Given the description of an element on the screen output the (x, y) to click on. 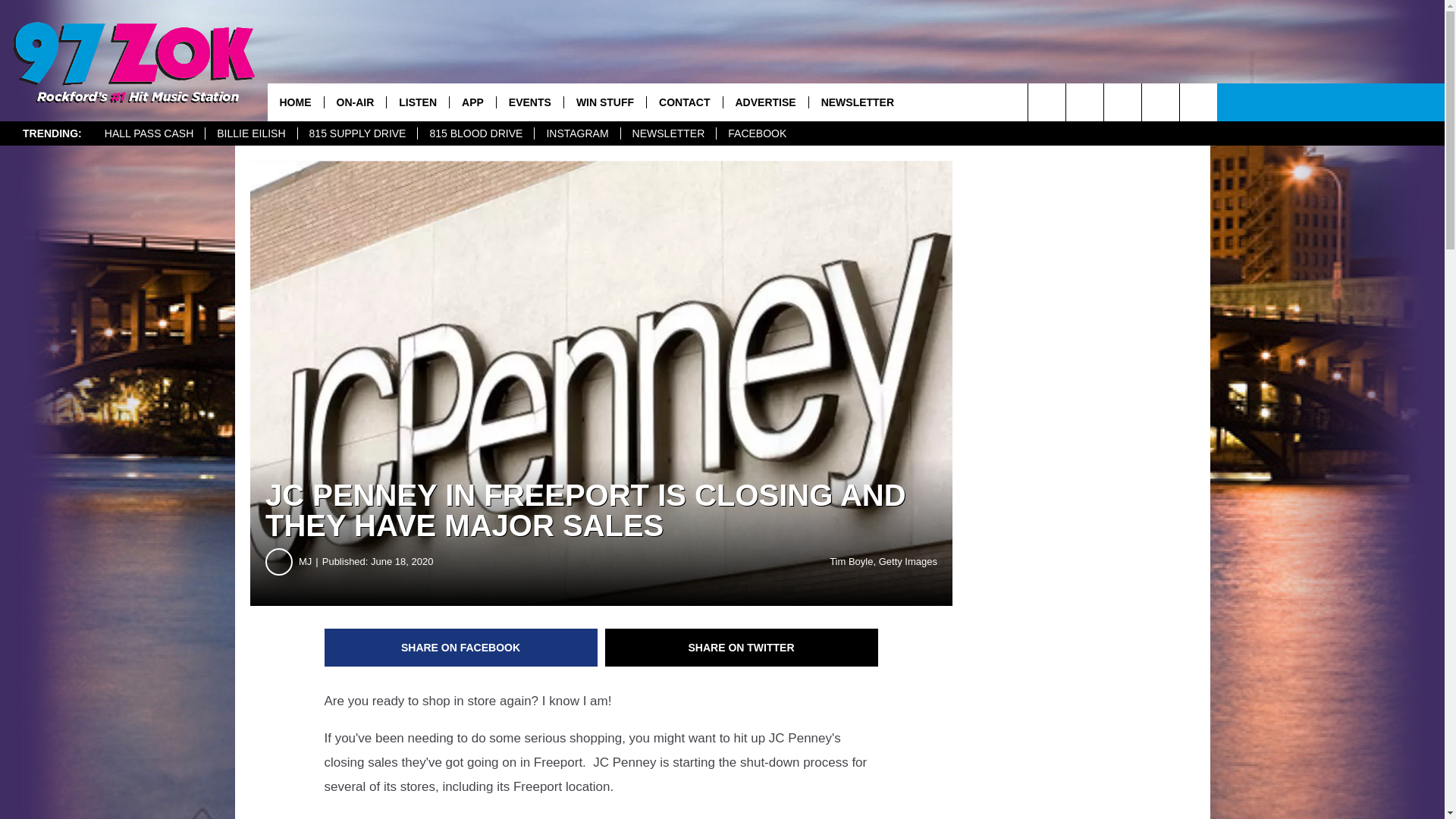
BILLIE EILISH (251, 133)
NEWSLETTER (856, 102)
APP (472, 102)
NEWSLETTER (668, 133)
HOME (294, 102)
WIN STUFF (604, 102)
LISTEN (416, 102)
815 BLOOD DRIVE (475, 133)
INSTAGRAM (577, 133)
ADVERTISE (765, 102)
